Given the description of an element on the screen output the (x, y) to click on. 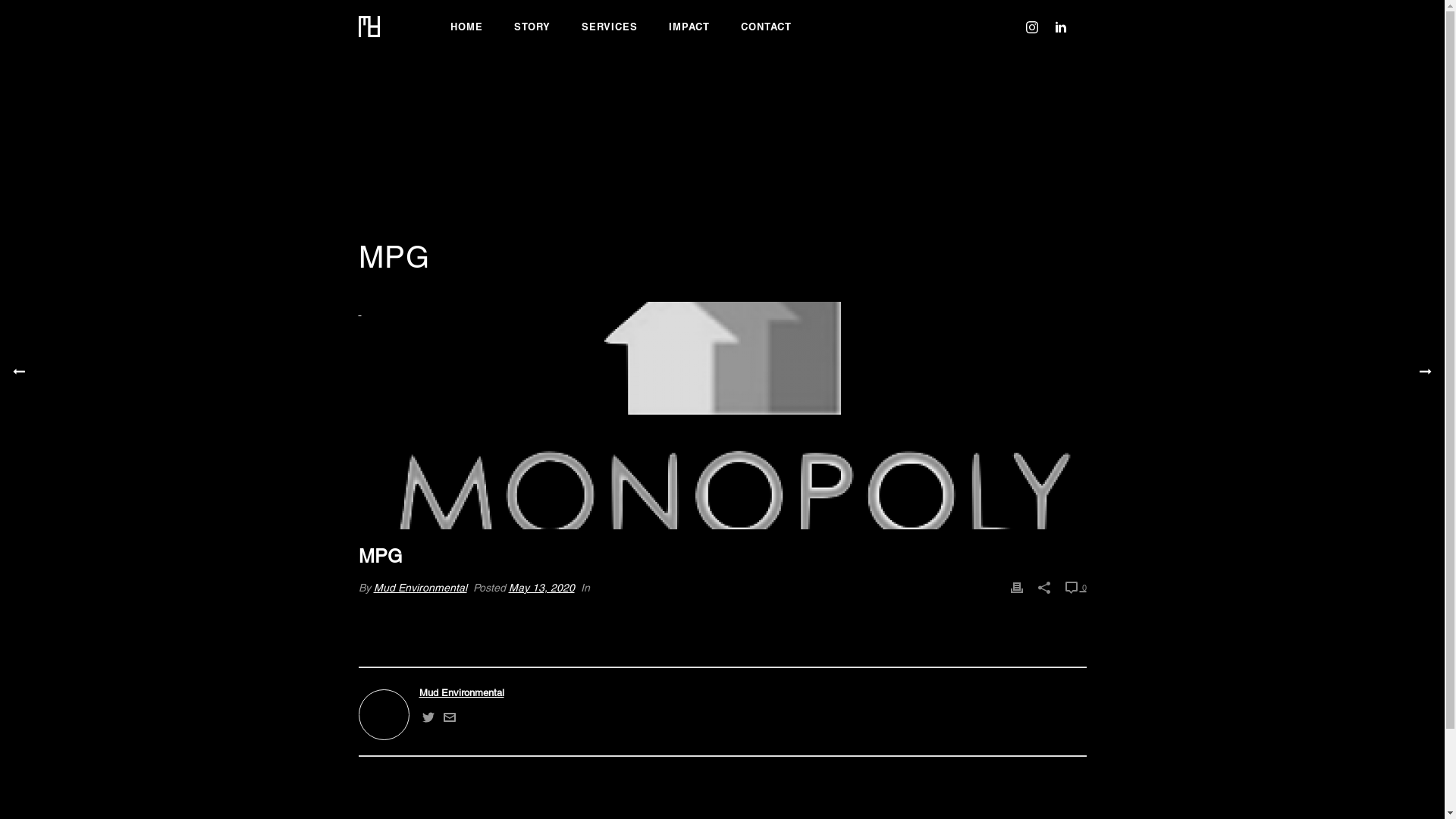
May 13, 2020 Element type: text (541, 586)
STORY Element type: text (531, 26)
0 Element type: text (1074, 587)
HOME Element type: text (466, 26)
MPG Element type: hover (721, 415)
Get in touch with me via email Element type: hover (448, 719)
SERVICES Element type: text (608, 26)
Mud Environmental Element type: text (419, 586)
We solve contamination problems Element type: hover (368, 26)
IMPACT Element type: text (688, 26)
Print Element type: hover (1016, 587)
  Element type: text (721, 415)
Follow me on Twitter Element type: hover (427, 719)
CONTACT Element type: text (765, 26)
Mud Environmental Element type: text (721, 692)
